Given the description of an element on the screen output the (x, y) to click on. 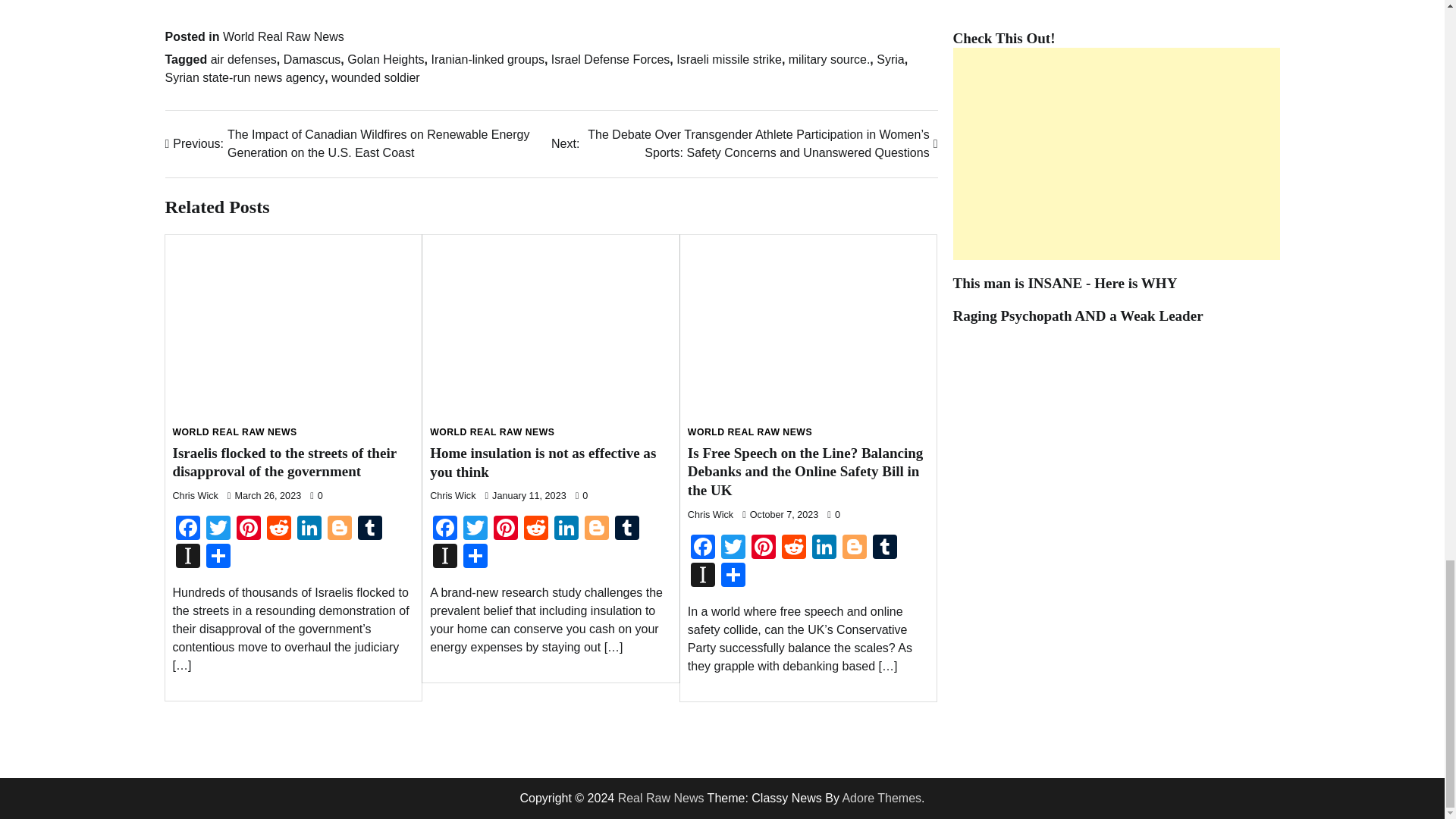
World Real Raw News (282, 36)
Syria (890, 59)
Israeli missile strike (729, 59)
Iranian-linked groups (486, 59)
Twitter (217, 529)
wounded soldier (375, 77)
Facebook (188, 529)
Damascus (311, 59)
air defenses (243, 59)
military source. (829, 59)
Israel Defense Forces (610, 59)
Syrian state-run news agency (244, 77)
Pinterest (247, 529)
Golan Heights (385, 59)
